Given the description of an element on the screen output the (x, y) to click on. 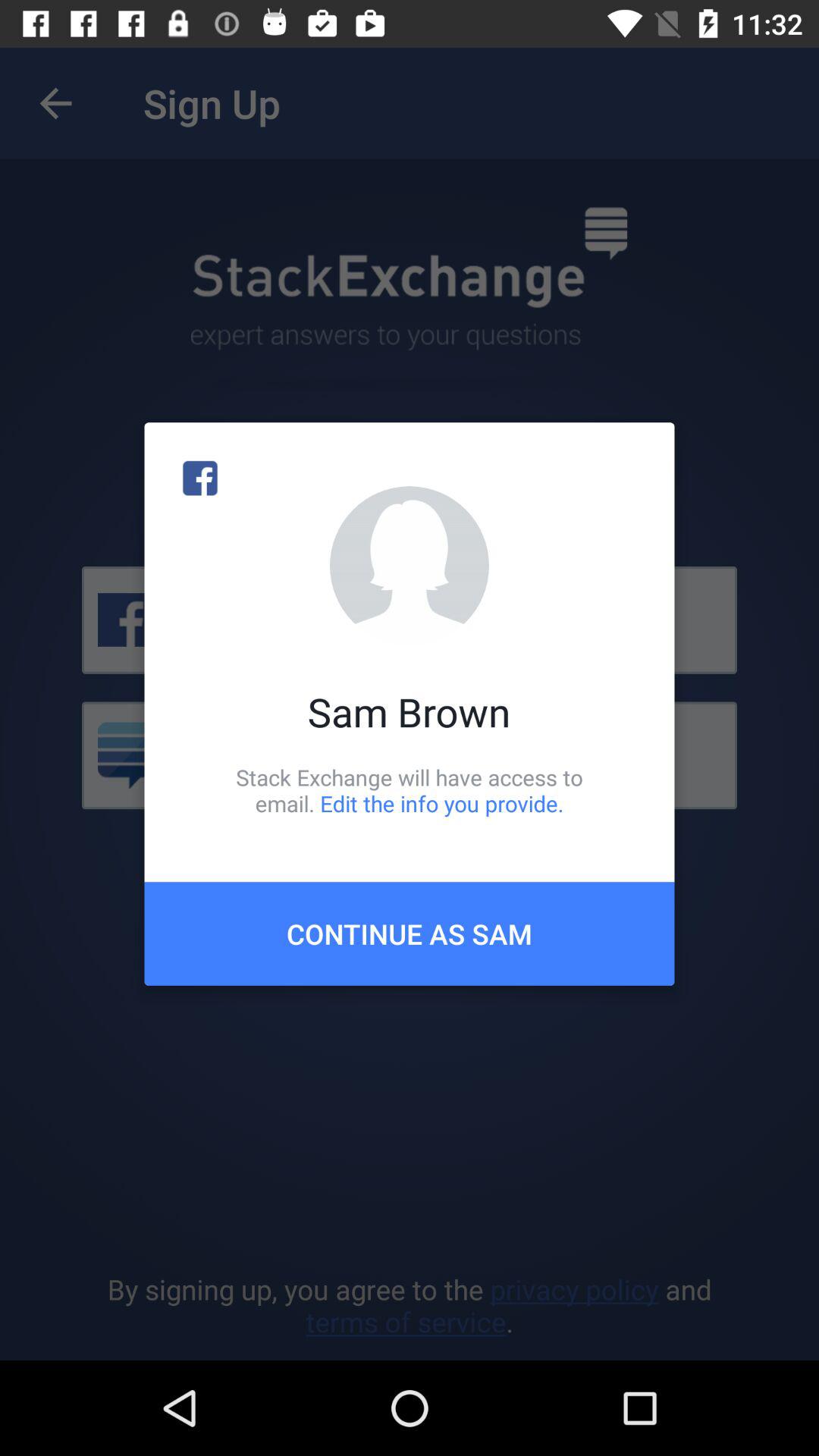
launch item below the stack exchange will item (409, 933)
